Given the description of an element on the screen output the (x, y) to click on. 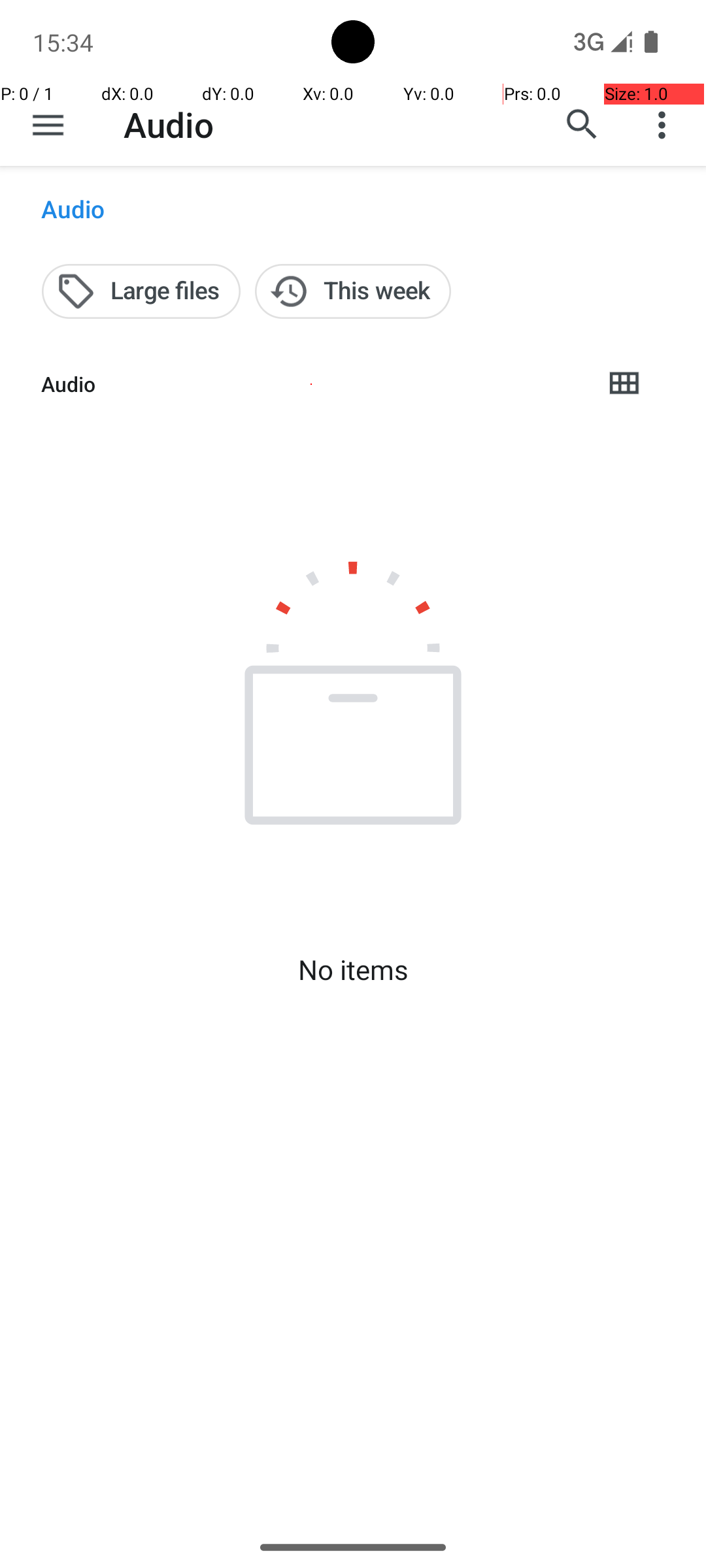
Show roots Element type: android.widget.ImageButton (48, 124)
Grid view Element type: android.widget.TextView (622, 384)
Large files Element type: android.widget.CompoundButton (140, 291)
This week Element type: android.widget.CompoundButton (352, 291)
No items Element type: android.widget.TextView (353, 968)
